Given the description of an element on the screen output the (x, y) to click on. 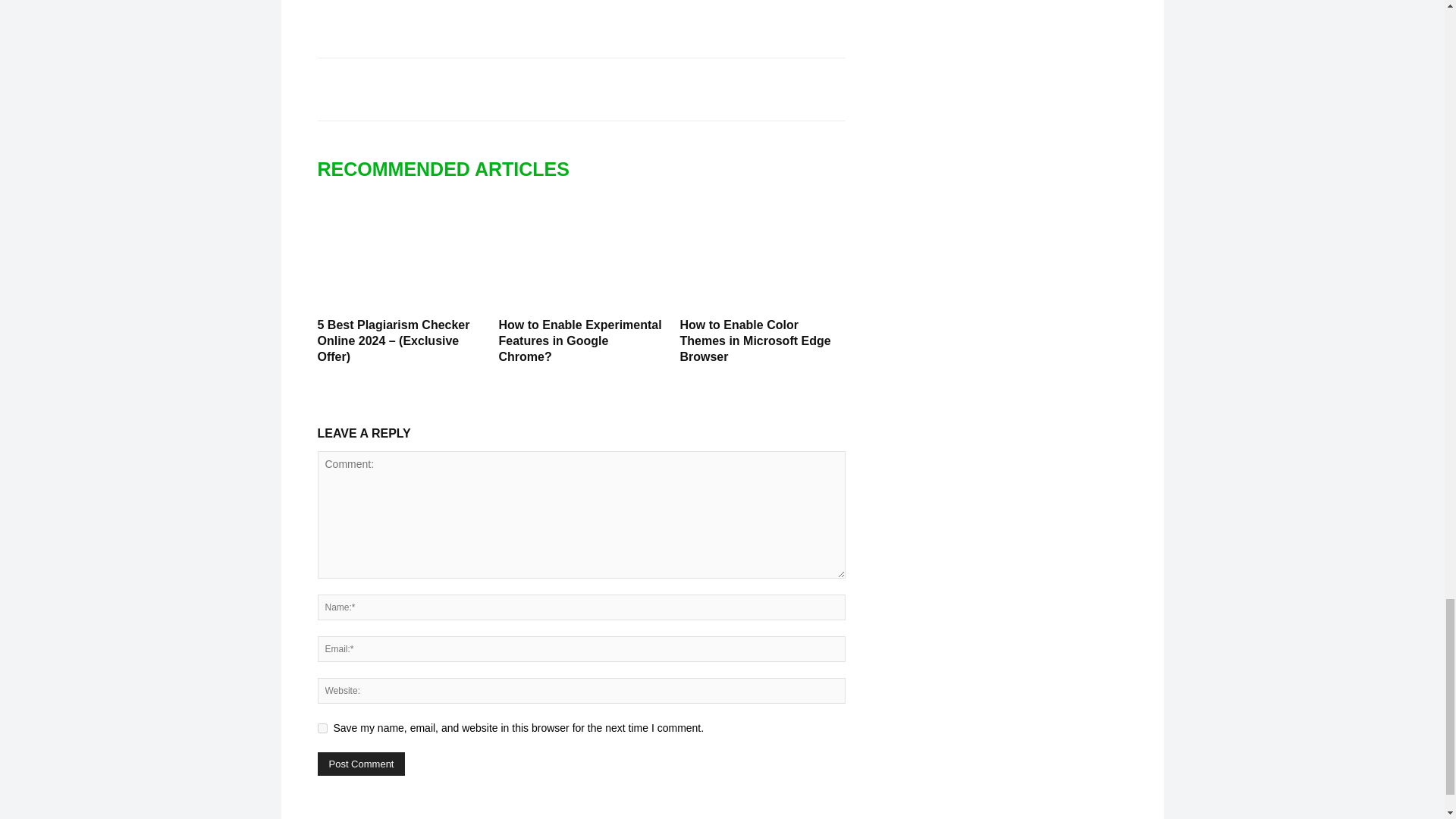
Post Comment (360, 763)
yes (321, 728)
RECOMMENDED ARTICLES (450, 169)
